Given the description of an element on the screen output the (x, y) to click on. 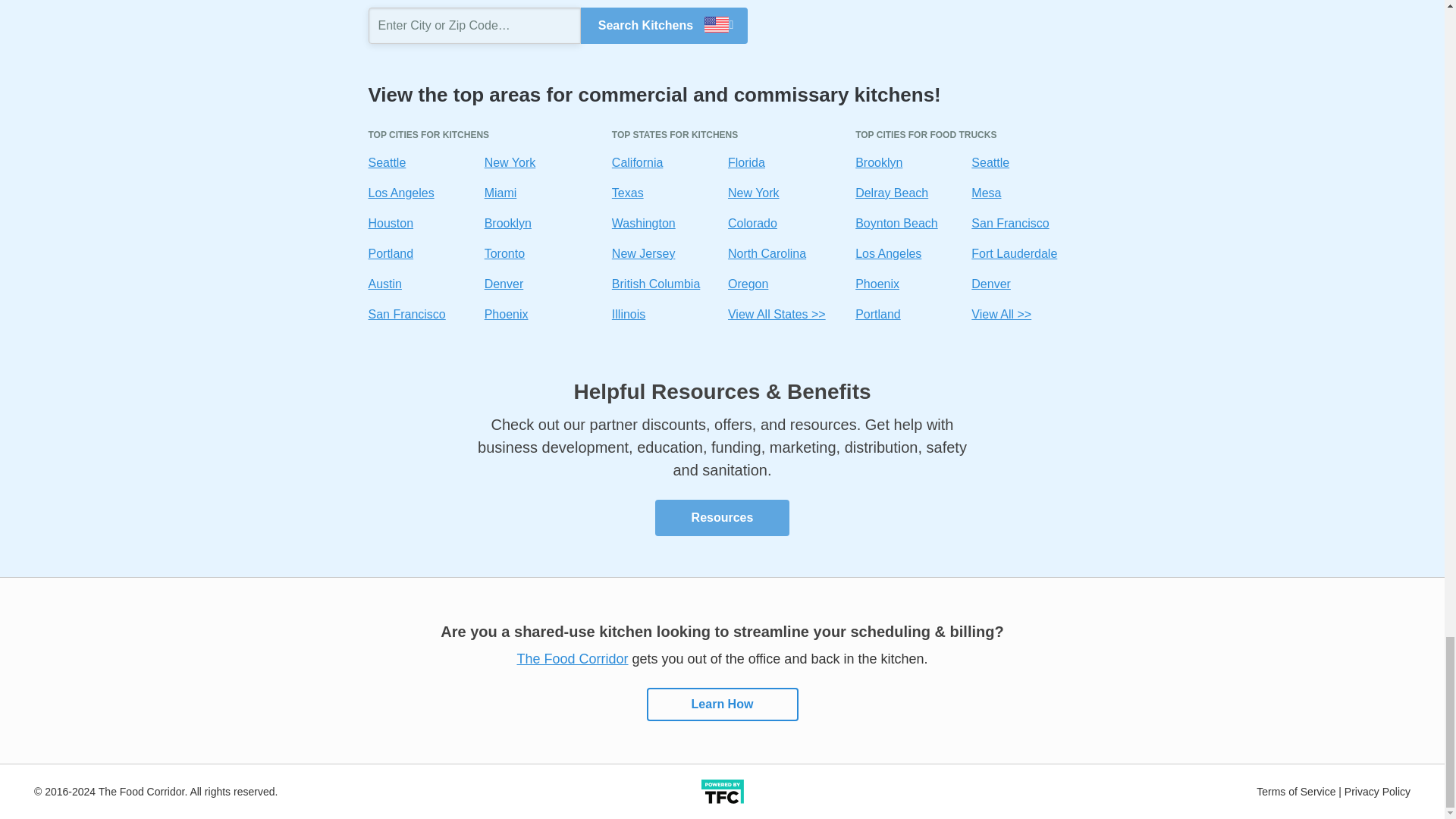
Miami (500, 192)
British Columbia (655, 283)
Delray Beach (892, 192)
North Carolina (767, 253)
Illinois (628, 314)
New York (509, 162)
Denver (504, 283)
Search Kitchens (664, 25)
Portland (390, 253)
New Jersey (643, 253)
